Given the description of an element on the screen output the (x, y) to click on. 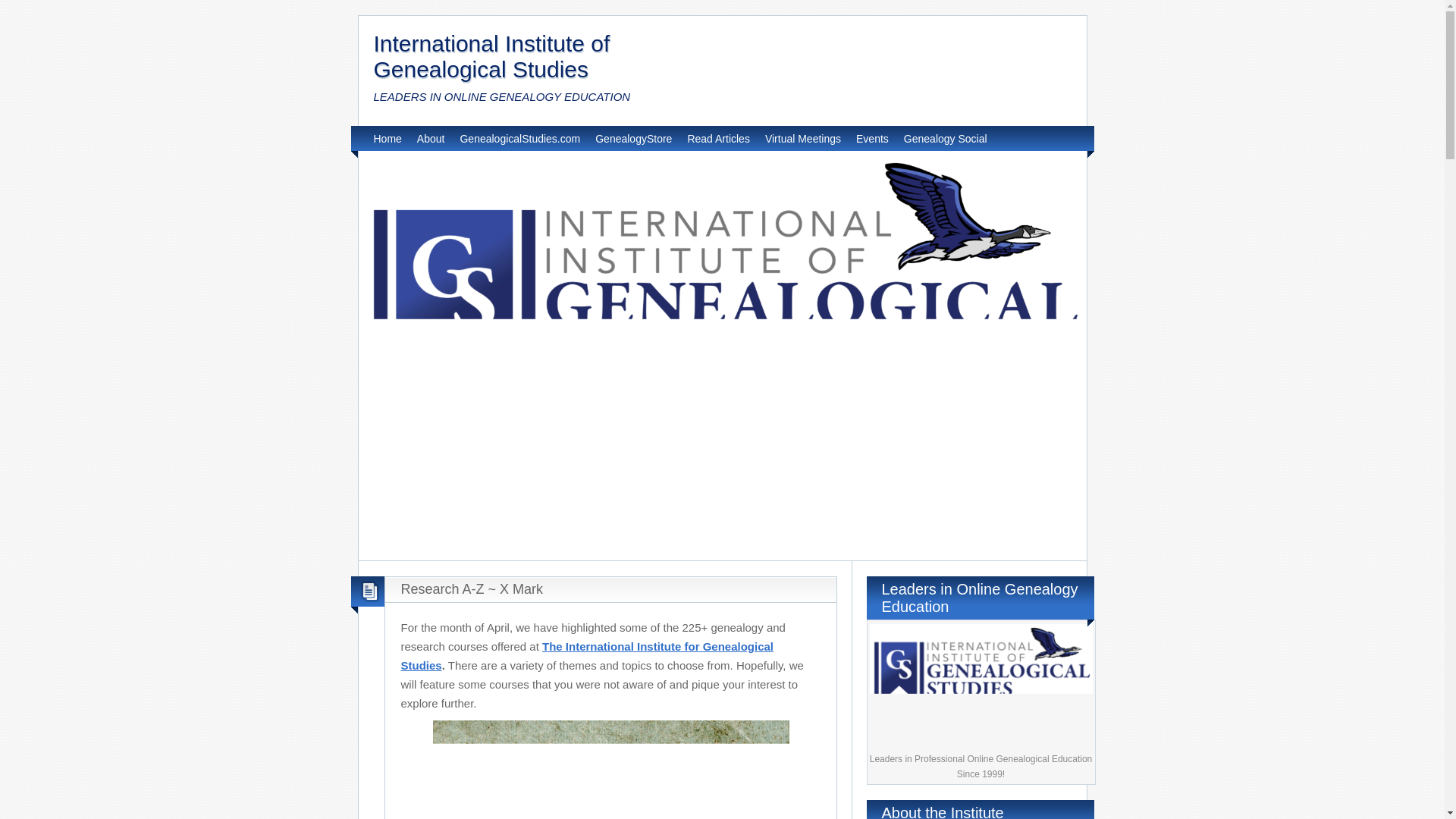
The International Institute for Genealogical Studies (586, 655)
About (430, 138)
GenealogyStore (633, 138)
Virtual Meetings (803, 138)
Read Articles (718, 138)
Leaders in Online Genealogy Education (980, 687)
International Institute of Genealogical Studies (491, 56)
Events (872, 138)
GenealogicalStudies.com (519, 138)
